Given the description of an element on the screen output the (x, y) to click on. 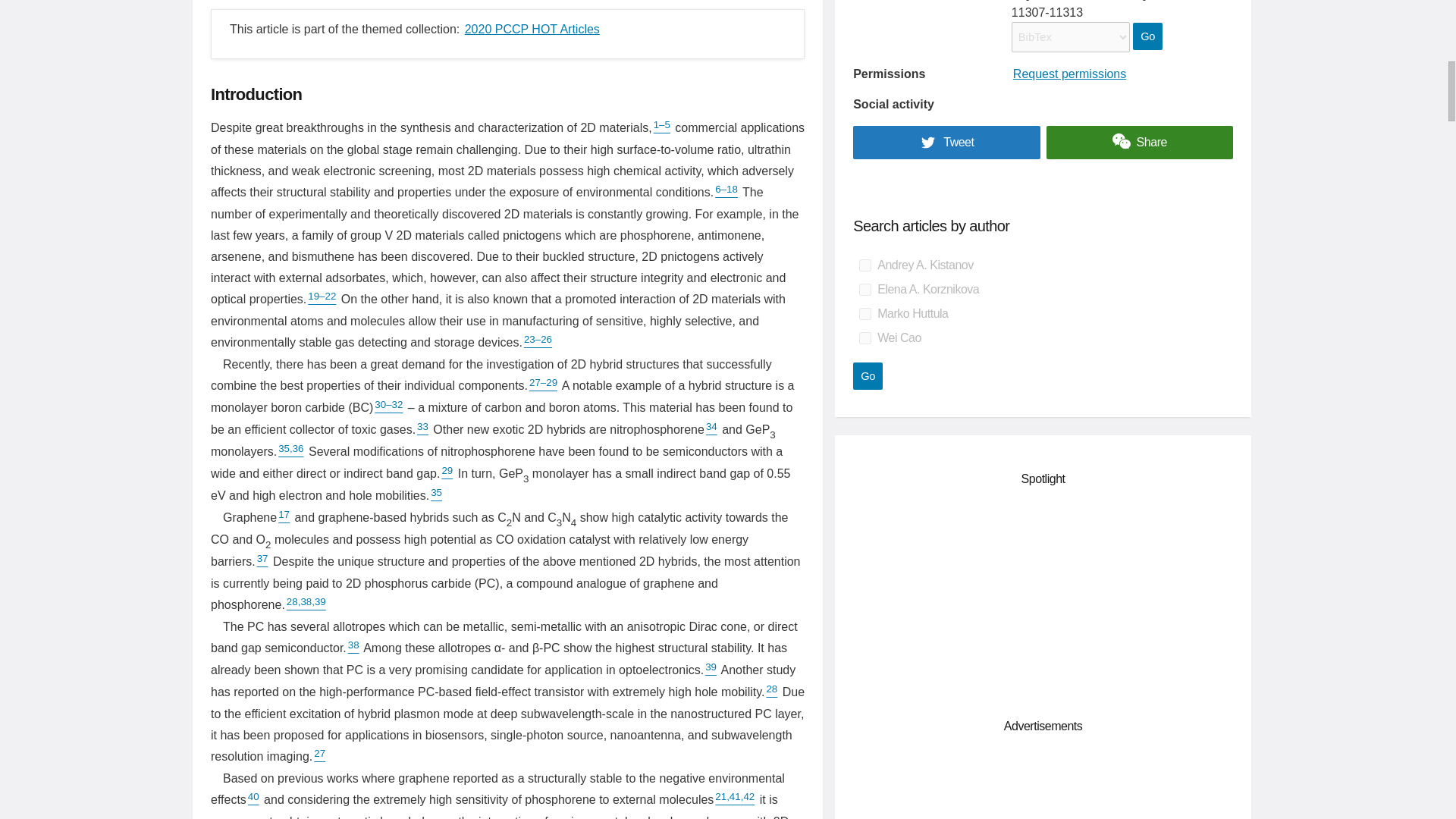
on (864, 313)
Go (867, 375)
2020 PCCP HOT Articles (532, 28)
35,36 (290, 451)
34 (711, 429)
Go (1146, 35)
on (864, 337)
on (864, 289)
on (864, 265)
33 (421, 429)
